Given the description of an element on the screen output the (x, y) to click on. 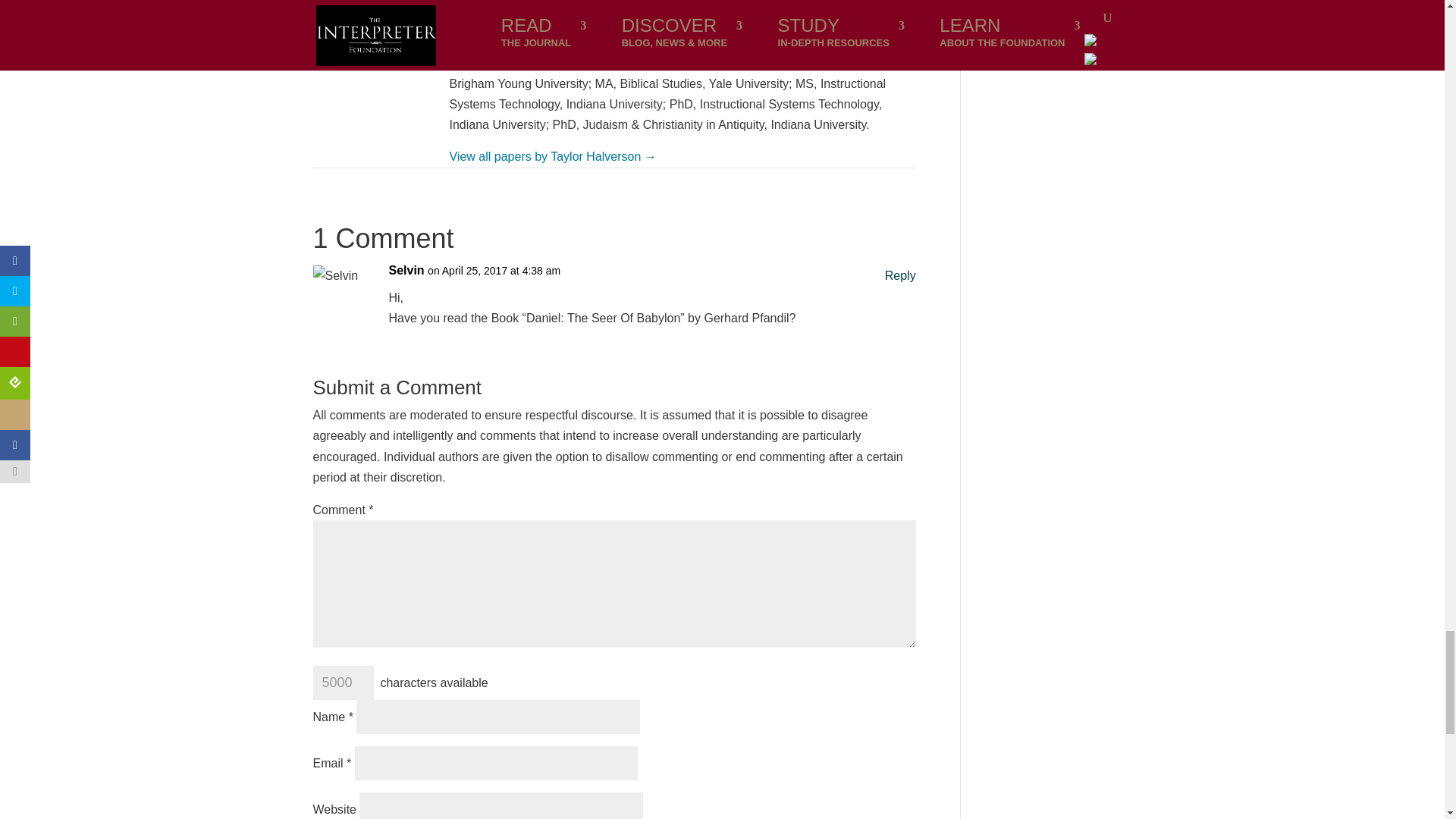
5000 (342, 682)
